Given the description of an element on the screen output the (x, y) to click on. 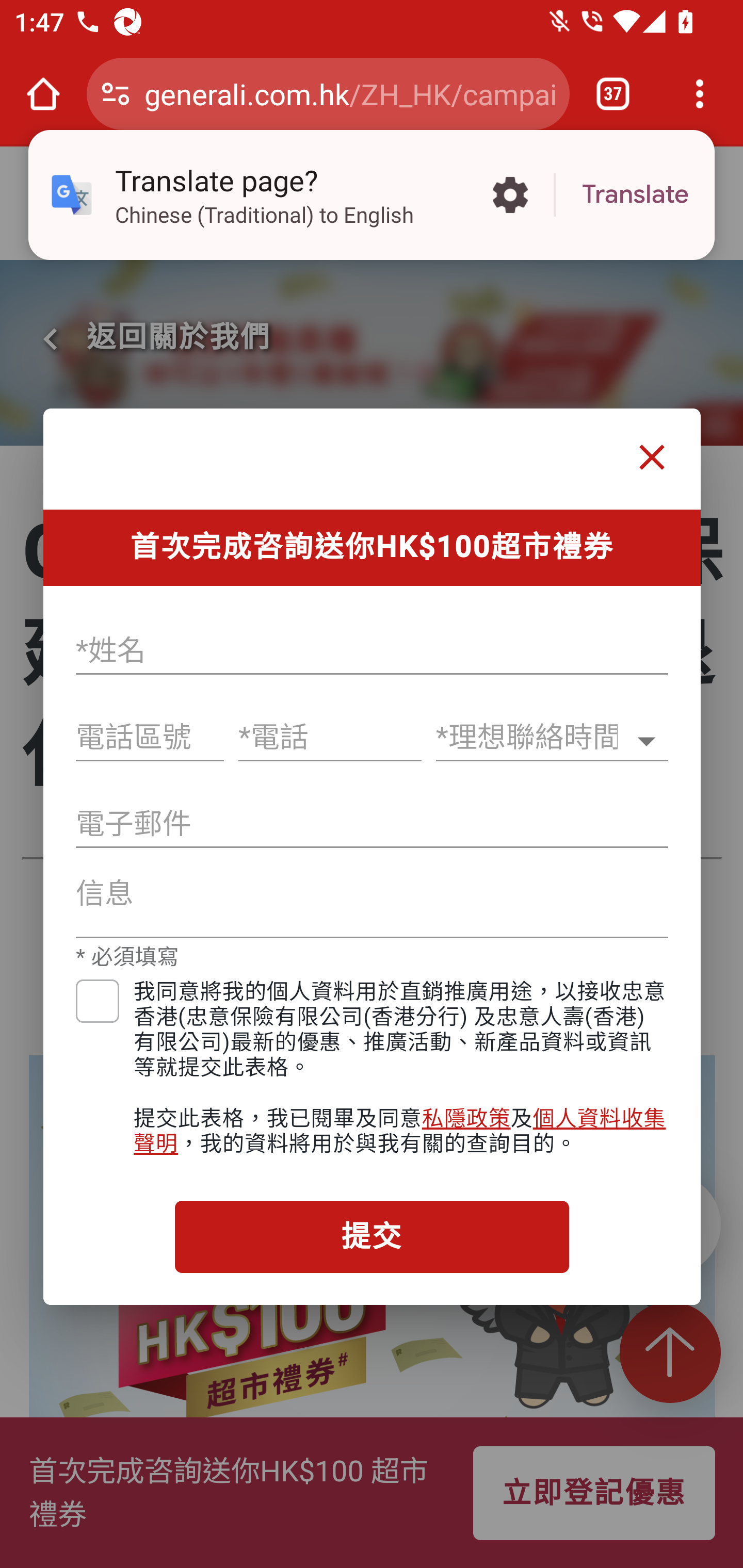
Open the home page (43, 93)
Connection is secure (115, 93)
Switch or close tabs (612, 93)
Customize and control Google Chrome (699, 93)
generali.com.hk/ZH_HK/campaign/qdapcampaign?phone= (349, 92)
Translate (634, 195)
More options in the Translate page? (509, 195)
個人資料收集聲明 (399, 1131)
私隱政策 (465, 1118)
提交 (371, 1235)
